Given the description of an element on the screen output the (x, y) to click on. 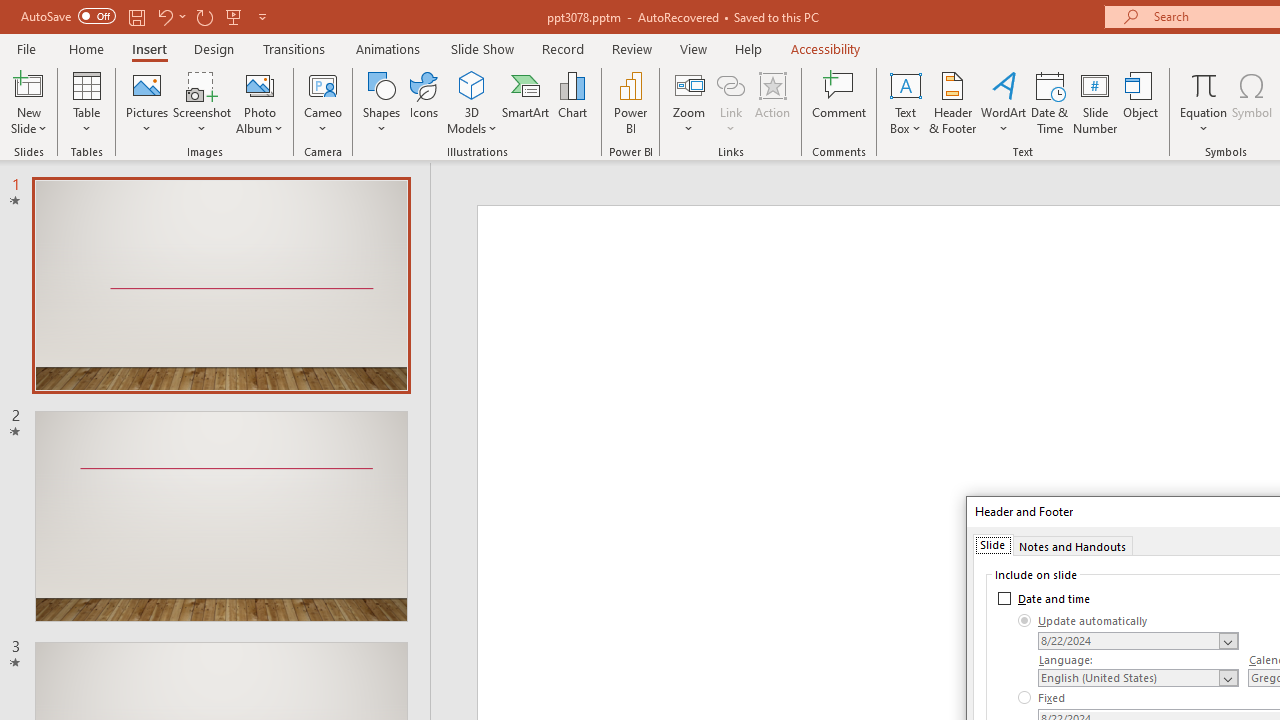
Notes and Handouts (1072, 544)
Object... (1141, 102)
Symbol... (1252, 102)
Language (1138, 677)
Action (772, 102)
Comment (839, 102)
Screenshot (202, 102)
